Given the description of an element on the screen output the (x, y) to click on. 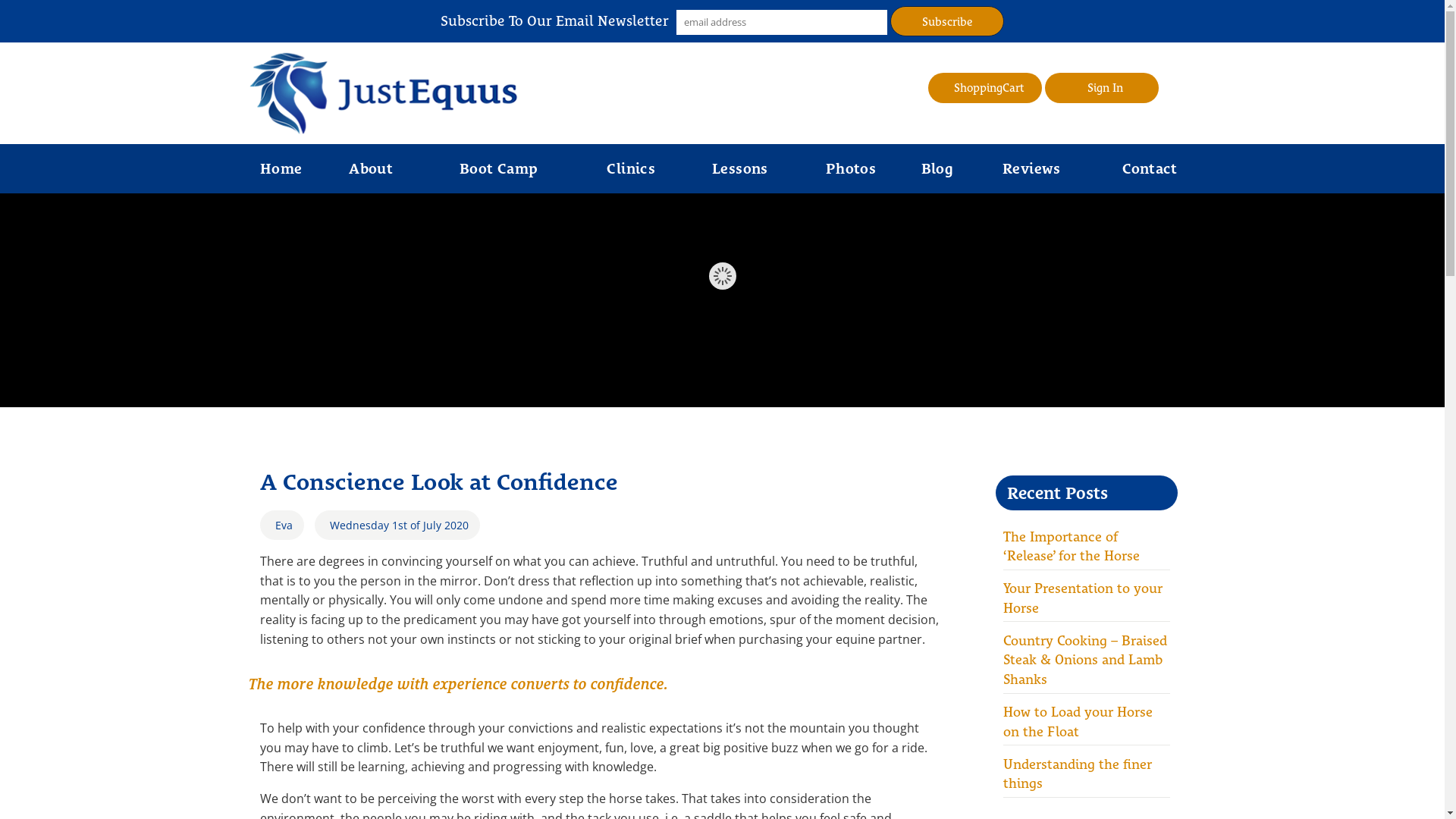
Contact Element type: text (1149, 168)
Your Presentation to your Horse Element type: text (1085, 597)
Reviews Element type: text (1031, 168)
How to Load your Horse on the Float Element type: text (1085, 721)
Understanding the finer things Element type: text (1085, 773)
Lessons Element type: text (739, 168)
Blog Element type: text (936, 168)
Sign In Element type: text (1101, 87)
Subscribe Element type: text (947, 21)
Home Element type: text (280, 168)
About Element type: text (371, 168)
ShoppingCart Element type: text (984, 87)
Boot Camp Element type: text (498, 168)
Clinics Element type: text (630, 168)
Photos Element type: text (850, 168)
